Given the description of an element on the screen output the (x, y) to click on. 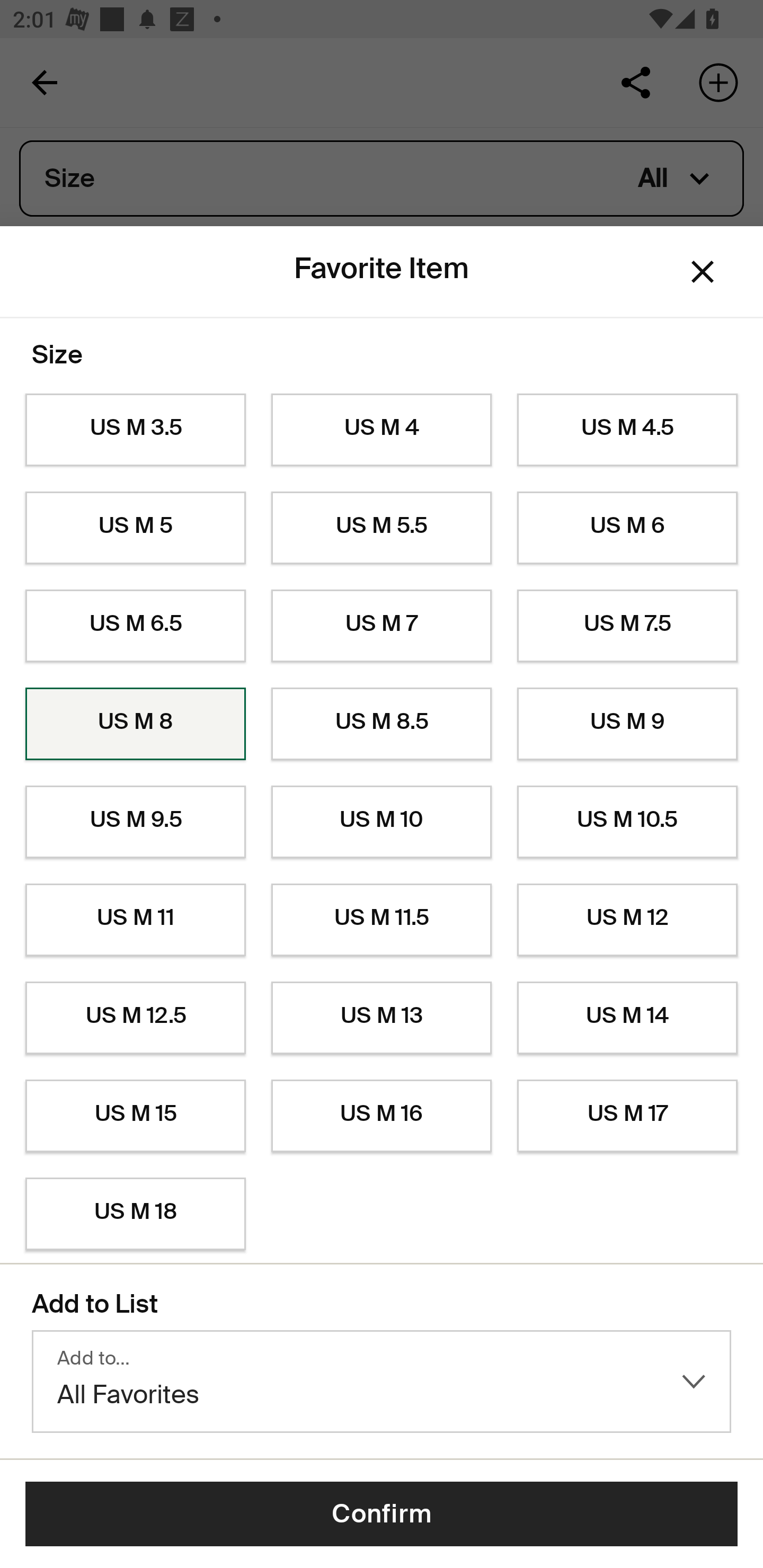
Dismiss (702, 271)
US M 3.5 (135, 430)
US M 4 (381, 430)
US M 4.5 (627, 430)
US M 5 (135, 527)
US M 5.5 (381, 527)
US M 6 (627, 527)
US M 6.5 (135, 626)
US M 7 (381, 626)
US M 7.5 (627, 626)
US M 8 (135, 724)
US M 8.5 (381, 724)
US M 9 (627, 724)
US M 9.5 (135, 822)
US M 10 (381, 822)
US M 10.5 (627, 822)
US M 11 (135, 919)
US M 11.5 (381, 919)
US M 12 (627, 919)
US M 12.5 (135, 1018)
US M 13 (381, 1018)
US M 14 (627, 1018)
US M 15 (135, 1116)
US M 16 (381, 1116)
US M 17 (627, 1116)
US M 18 (135, 1214)
Add to… All Favorites (381, 1381)
Confirm (381, 1513)
